Given the description of an element on the screen output the (x, y) to click on. 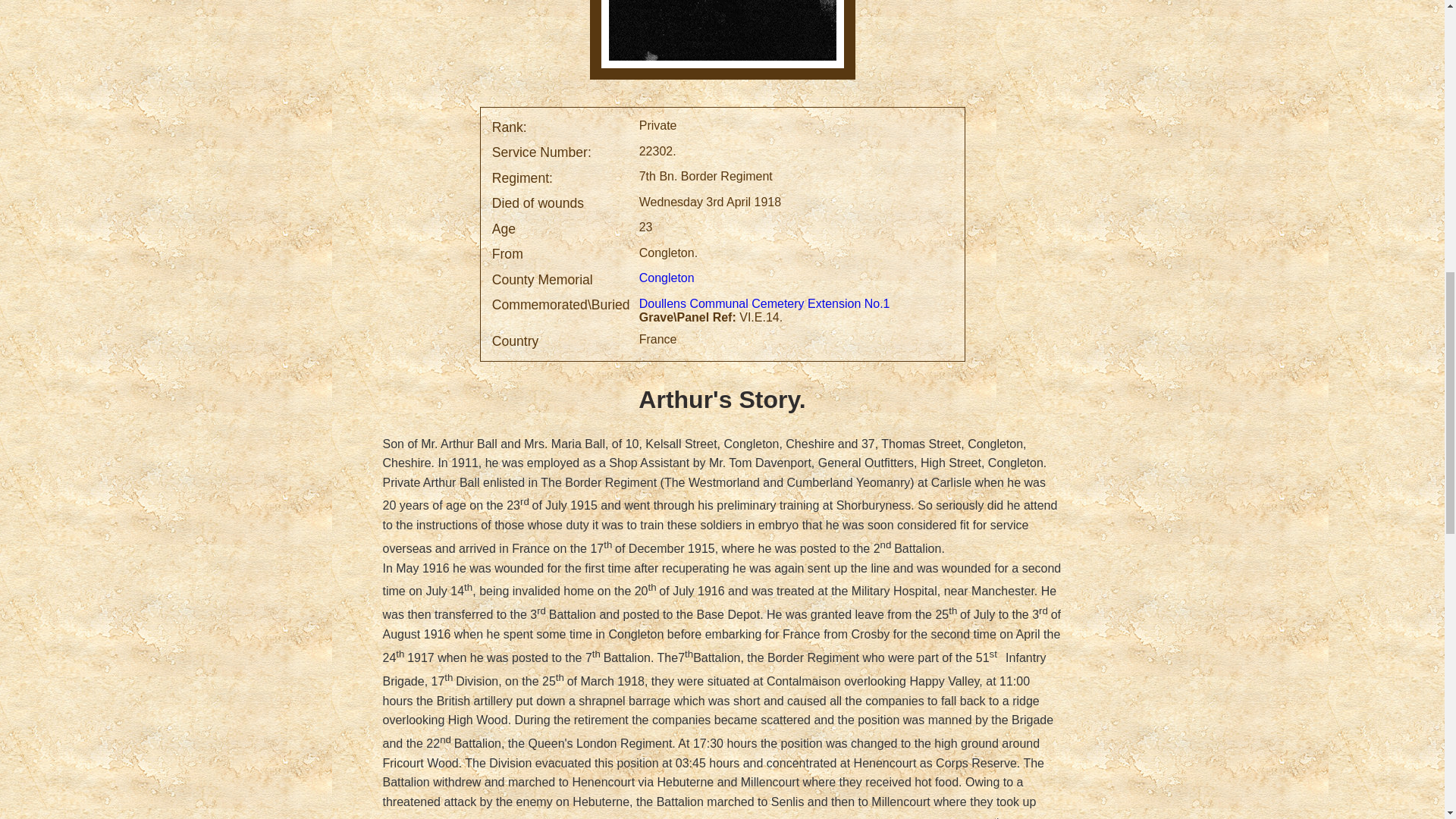
Doullens Communal Cemetery Extension No.1 (764, 304)
Congleton (669, 277)
